Given the description of an element on the screen output the (x, y) to click on. 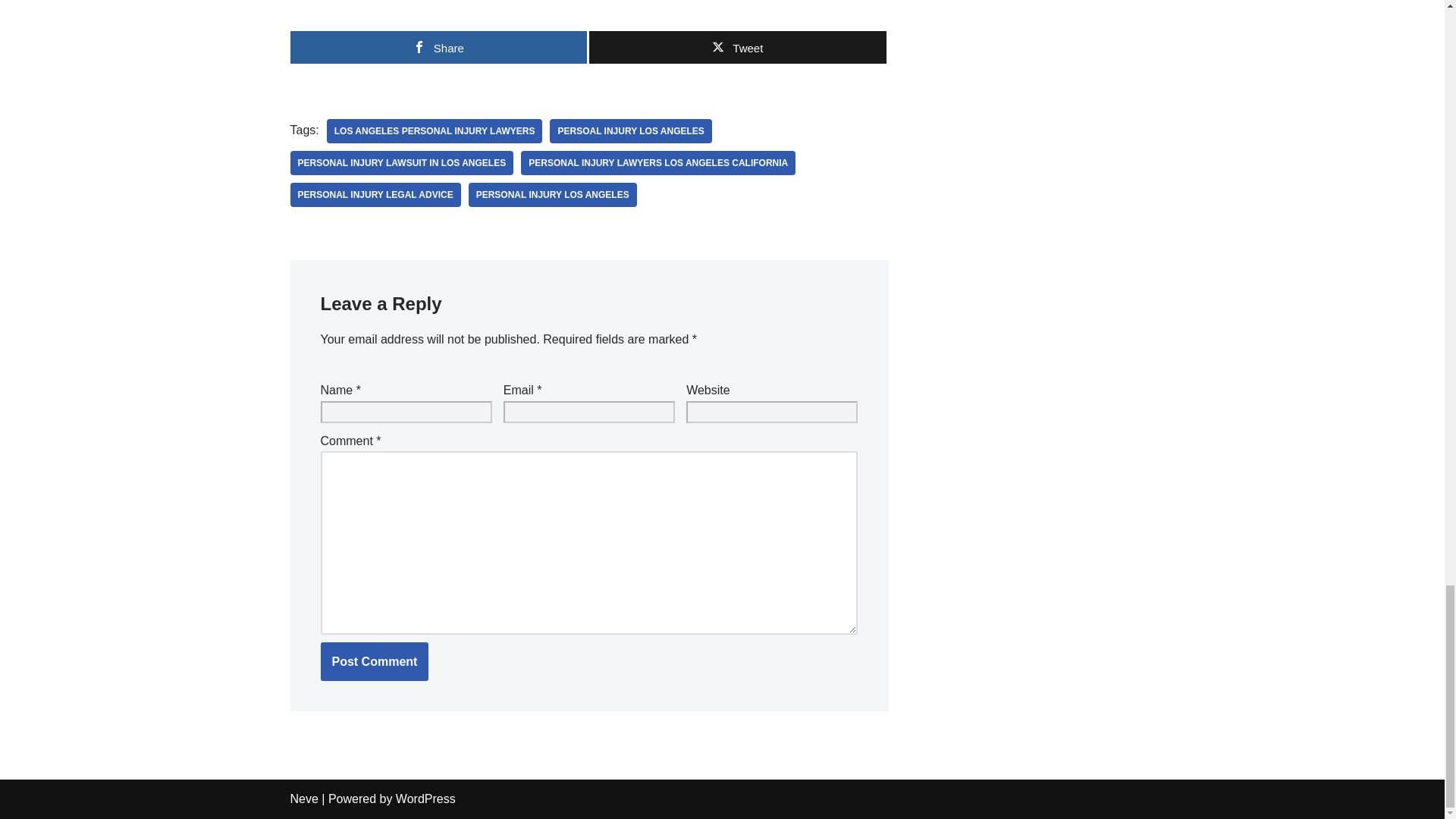
Share (437, 47)
los angeles personal injury lawyers (434, 130)
PERSONAL INJURY LAWYERS LOS ANGELES CALIFORNIA (657, 162)
PERSONAL INJURY LEGAL ADVICE (374, 194)
personal injury legal advice (374, 194)
Personal injury lawyers los angeles California (657, 162)
PERSONAL INJURY LOS ANGELES (552, 194)
PERSONAL INJURY LAWSUIT IN LOS ANGELES (401, 162)
personal injury los angeles (552, 194)
Post Comment (374, 661)
